Given the description of an element on the screen output the (x, y) to click on. 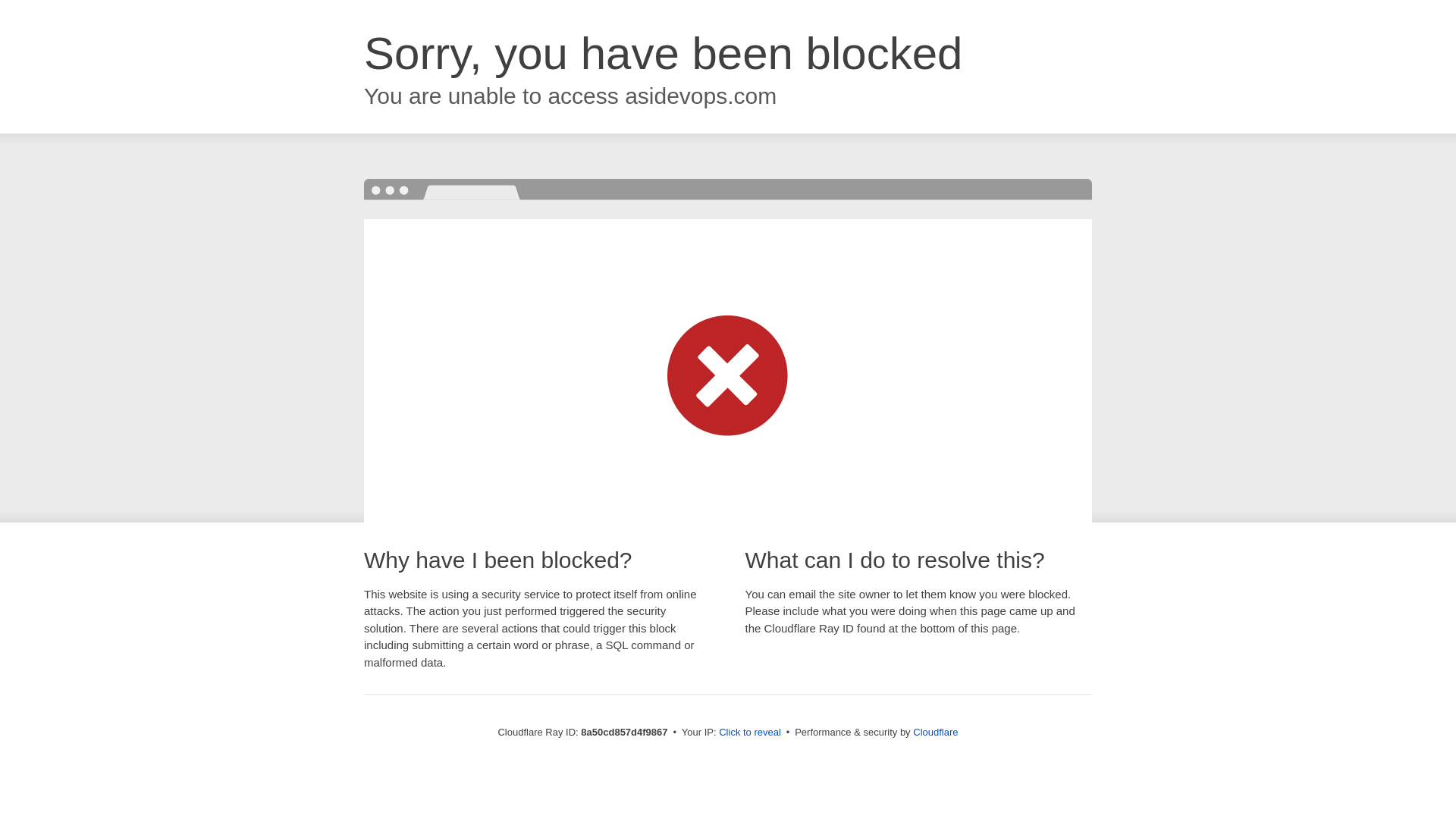
Click to reveal (749, 732)
Cloudflare (935, 731)
